Given the description of an element on the screen output the (x, y) to click on. 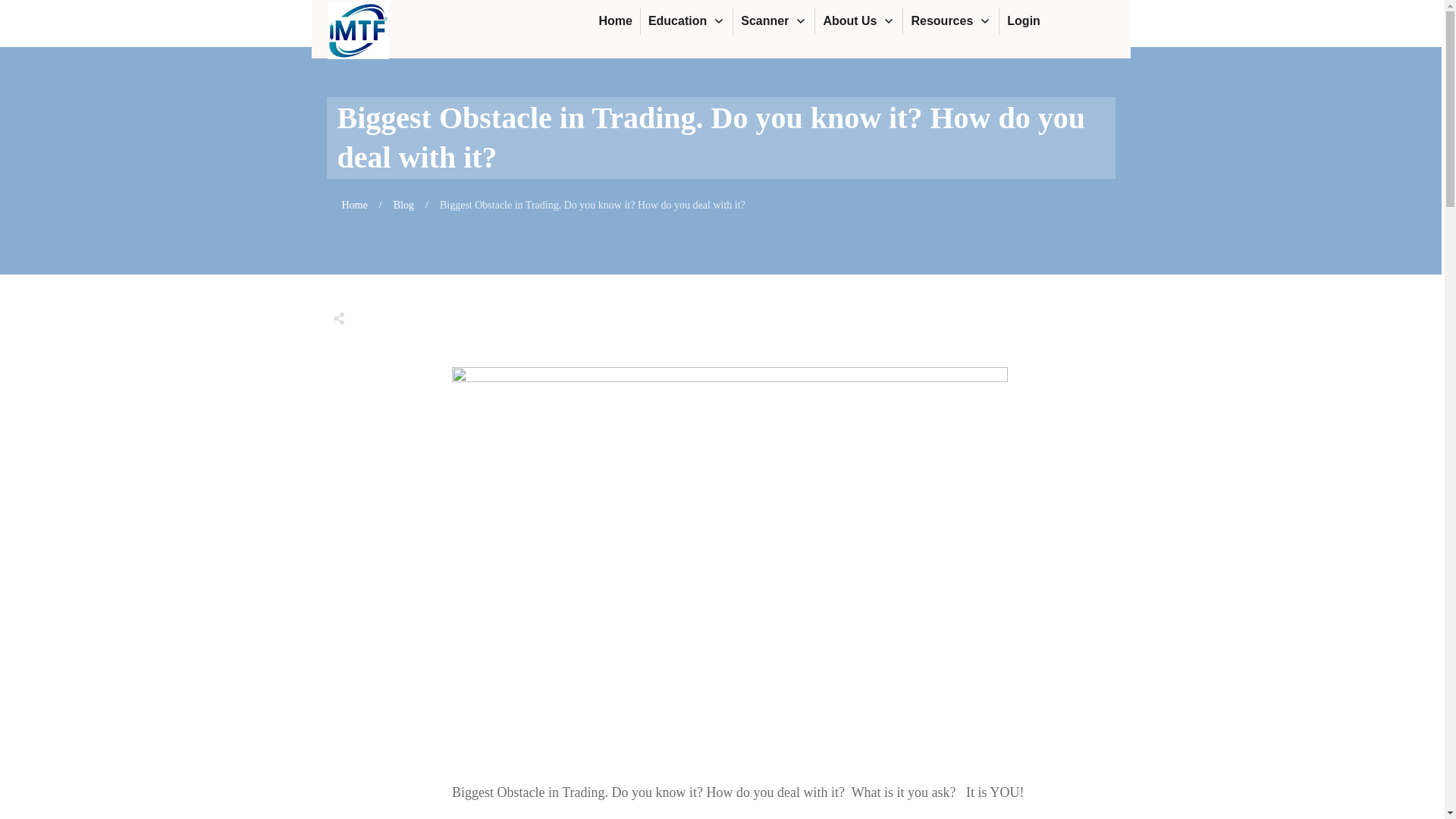
Scanner (773, 21)
Login (1024, 21)
About Us (858, 21)
Home (353, 204)
Blog (403, 204)
Resources (951, 21)
Home (614, 21)
Education (686, 21)
